Given the description of an element on the screen output the (x, y) to click on. 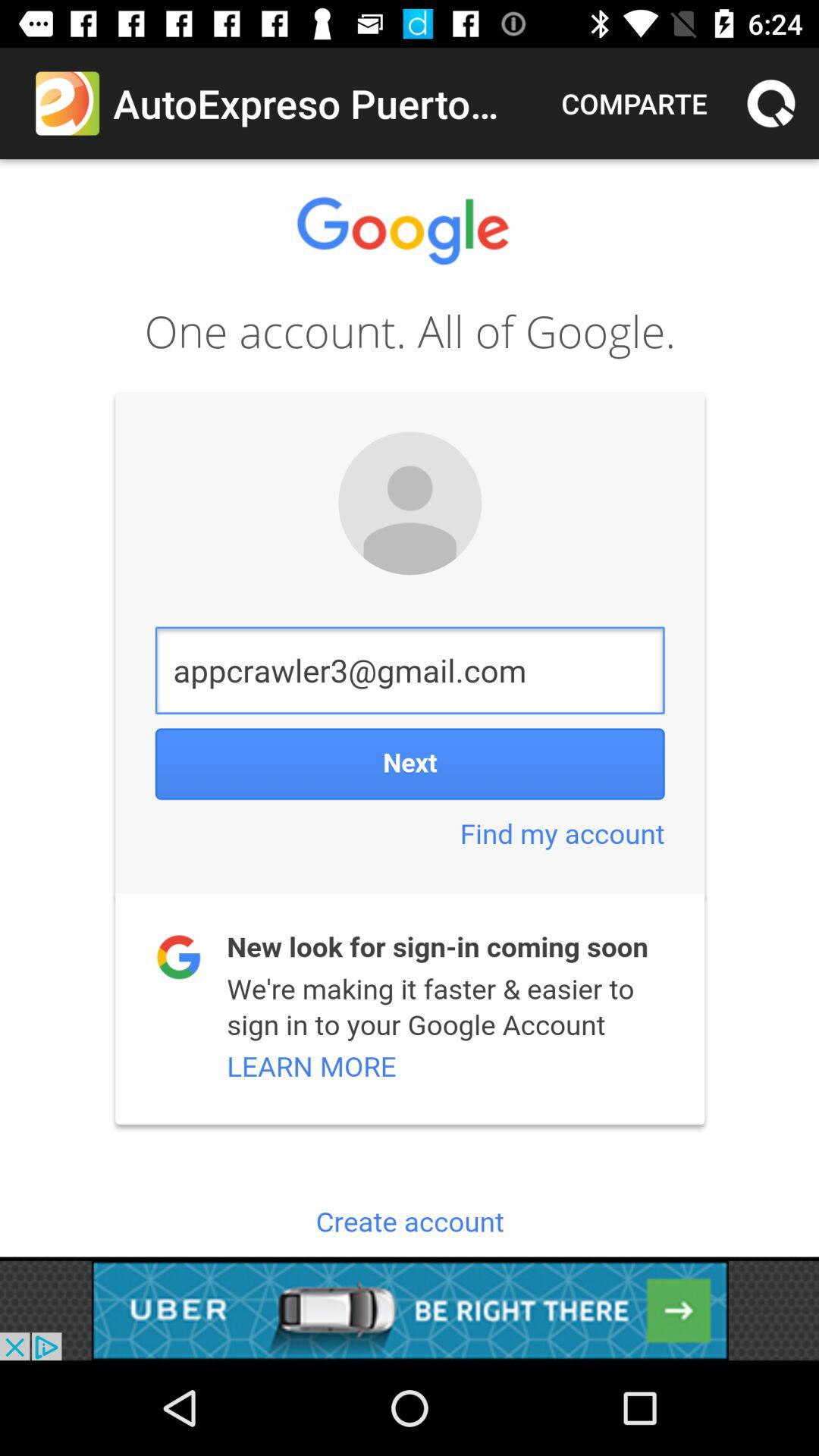
go to advertisement (409, 1310)
